Given the description of an element on the screen output the (x, y) to click on. 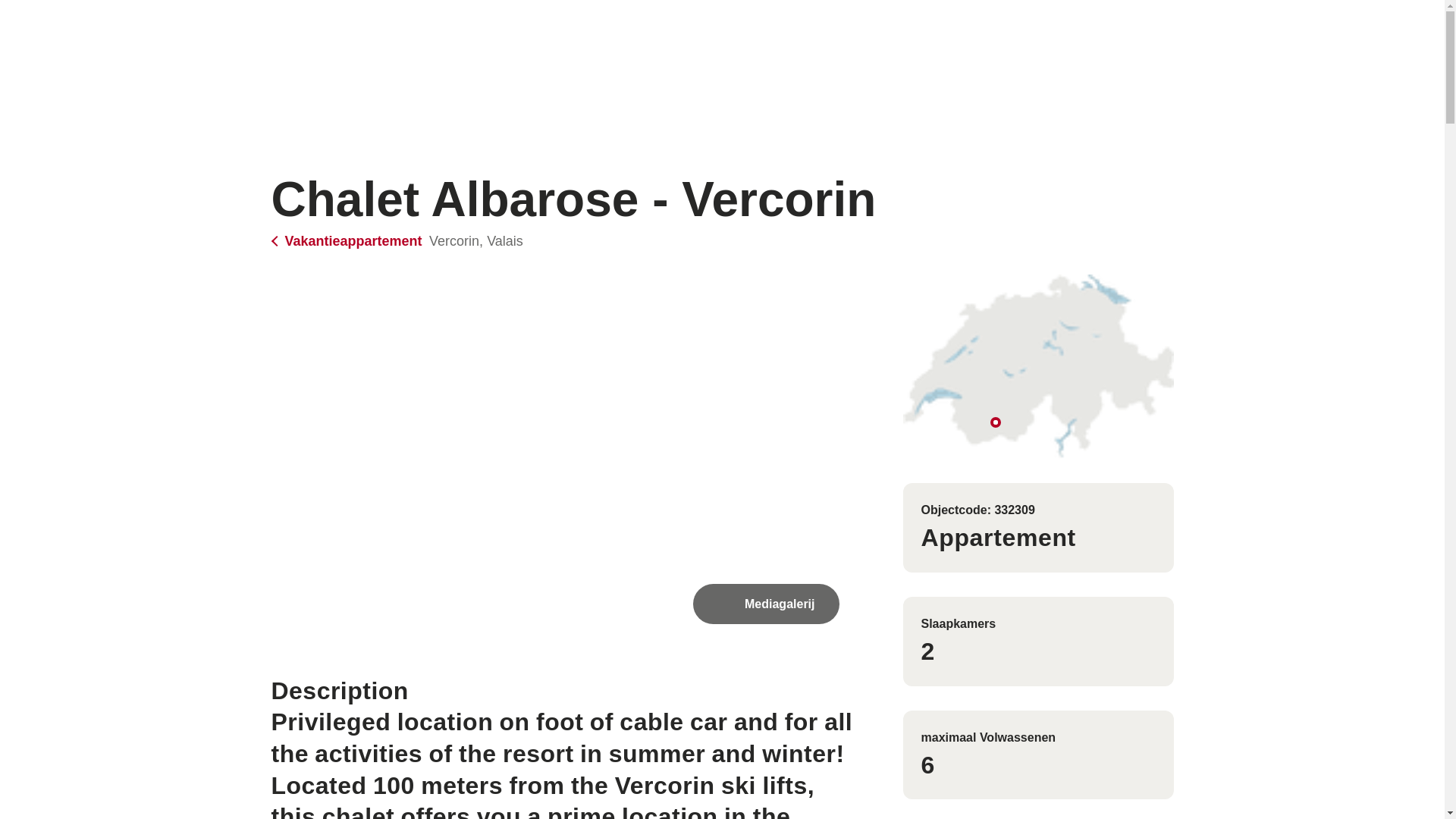
Toon op plattegrond (1037, 366)
Terug naar het overzicht (348, 240)
